Given the description of an element on the screen output the (x, y) to click on. 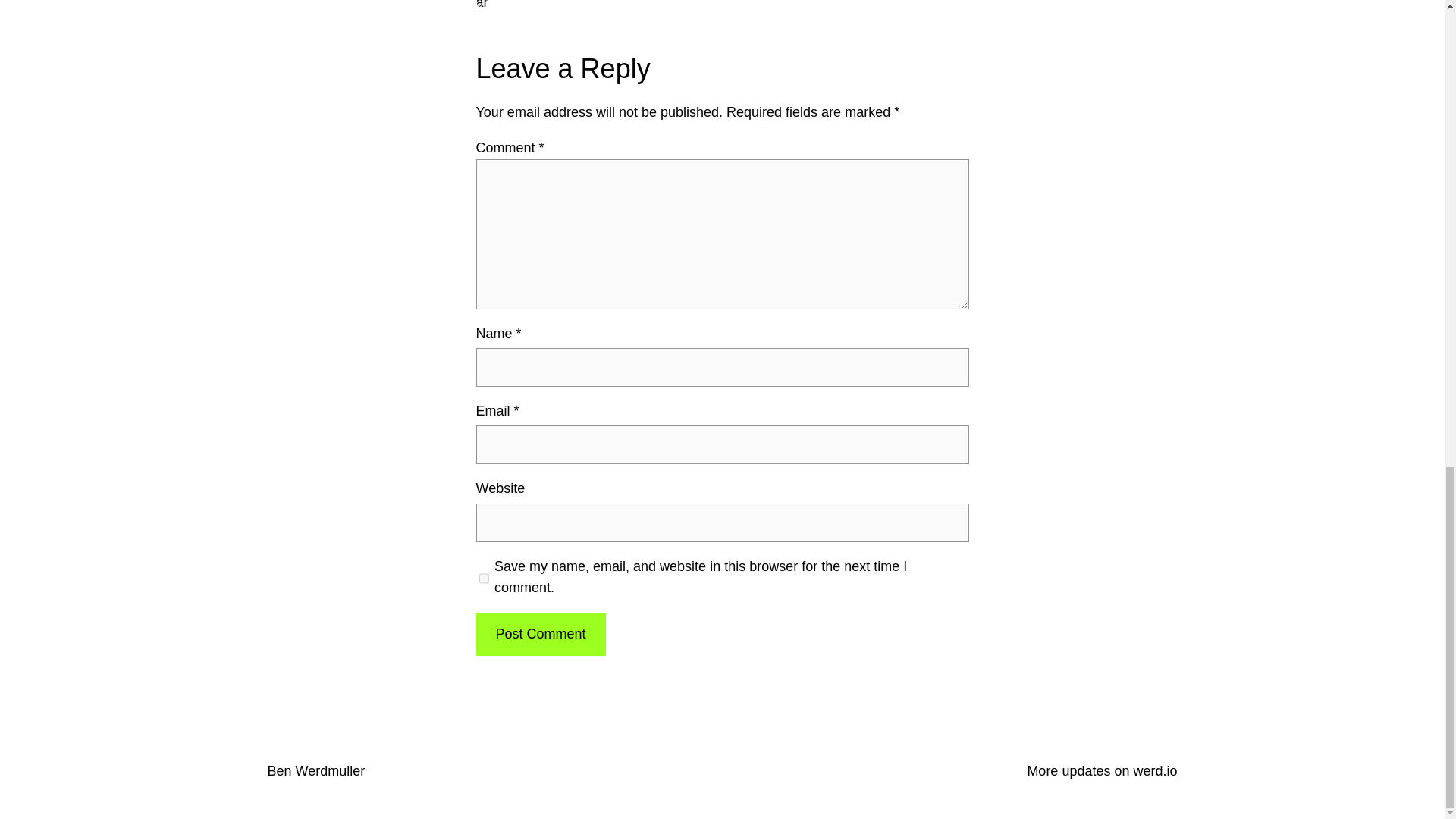
Post Comment (540, 634)
Ben Werdmuller (315, 770)
More updates on werd.io (1101, 770)
Post Comment (540, 634)
